Given the description of an element on the screen output the (x, y) to click on. 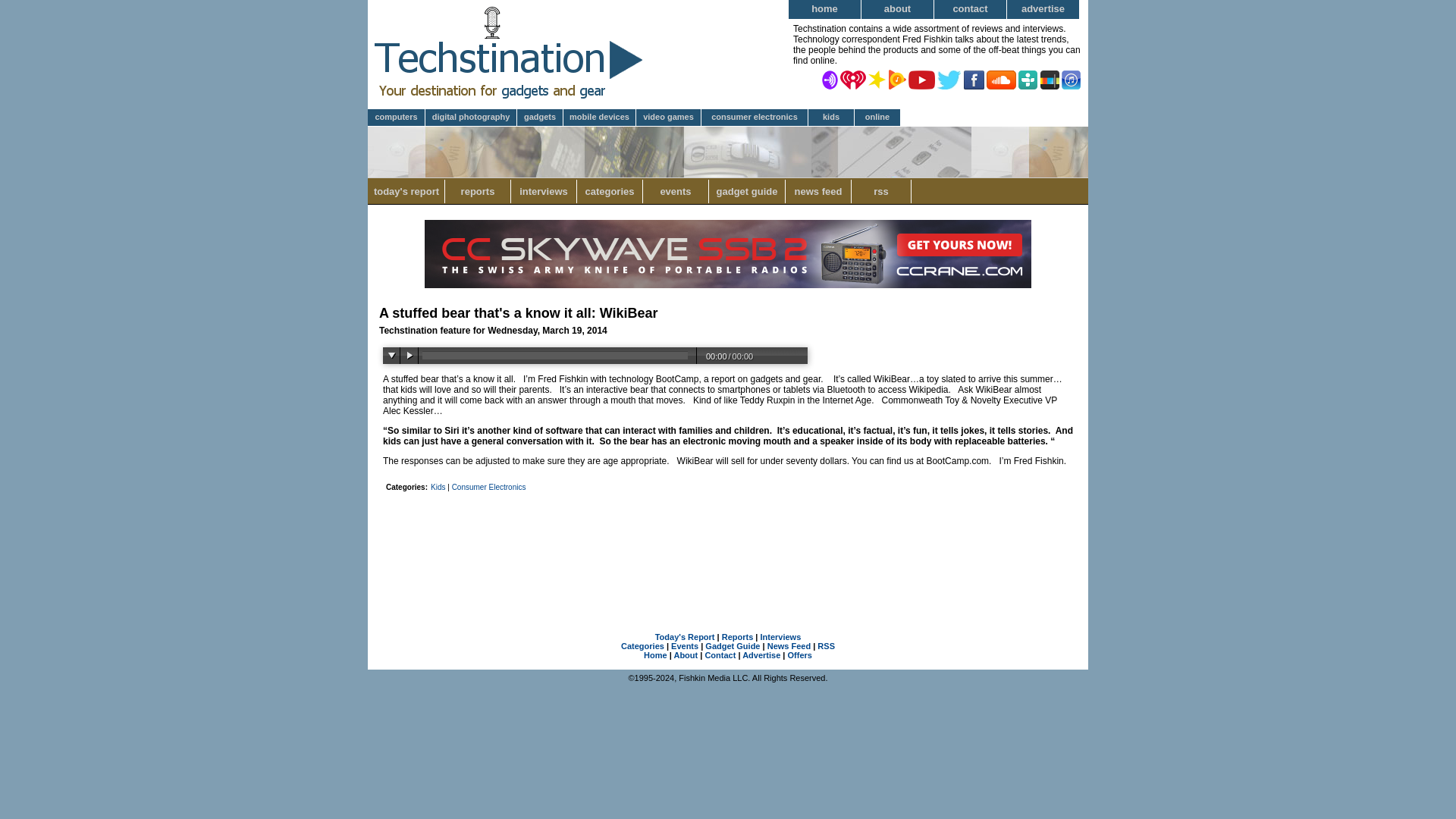
home (825, 9)
Follow Techstination on Twitter (948, 78)
Visit Techstination on Stitcher (1050, 78)
Subscribe to Techstination on YouTube (921, 78)
Listen to Techstination on Anchor.fm (830, 78)
Visit our sponsor: C. Crane Company, Inc. (727, 285)
Visit Techstination on SoundCloud (1001, 78)
Visit Techstination on iTunes (1070, 78)
Listen to Techstination on Google Play Music (896, 78)
digital photography (470, 117)
about (897, 9)
kids (831, 117)
contact (970, 9)
computers (396, 117)
reports (478, 191)
